Given the description of an element on the screen output the (x, y) to click on. 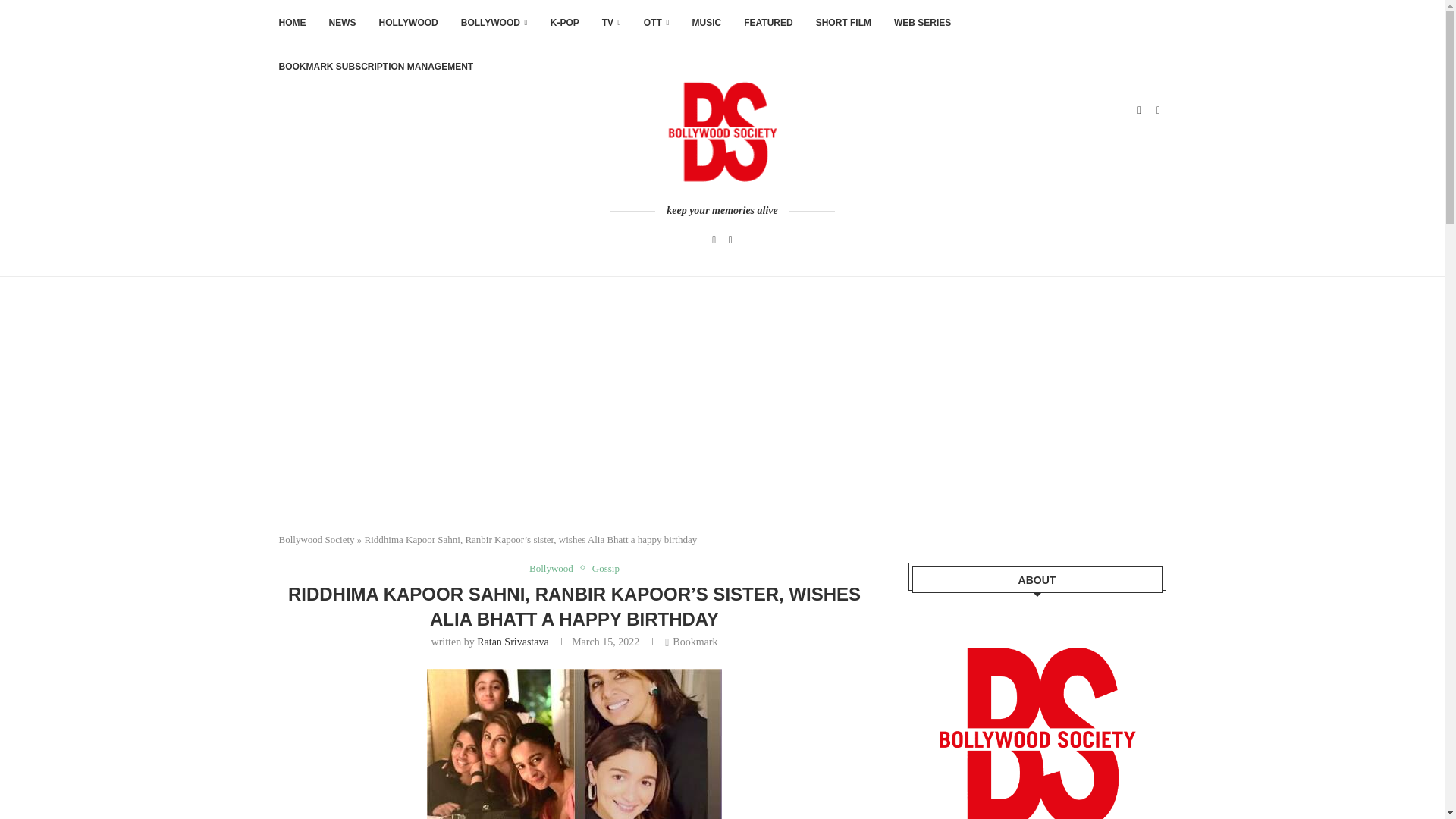
Bollywood Society (317, 539)
Bollywood (554, 568)
BOLLYWOOD (494, 22)
BOOKMARK SUBSCRIPTION MANAGEMENT (376, 66)
FEATURED (768, 22)
Gossip (606, 568)
WEB SERIES (921, 22)
SHORT FILM (842, 22)
alia-neetu-riddhima (574, 744)
Bookmark (691, 642)
Ratan Srivastava (512, 641)
HOLLYWOOD (408, 22)
